Given the description of an element on the screen output the (x, y) to click on. 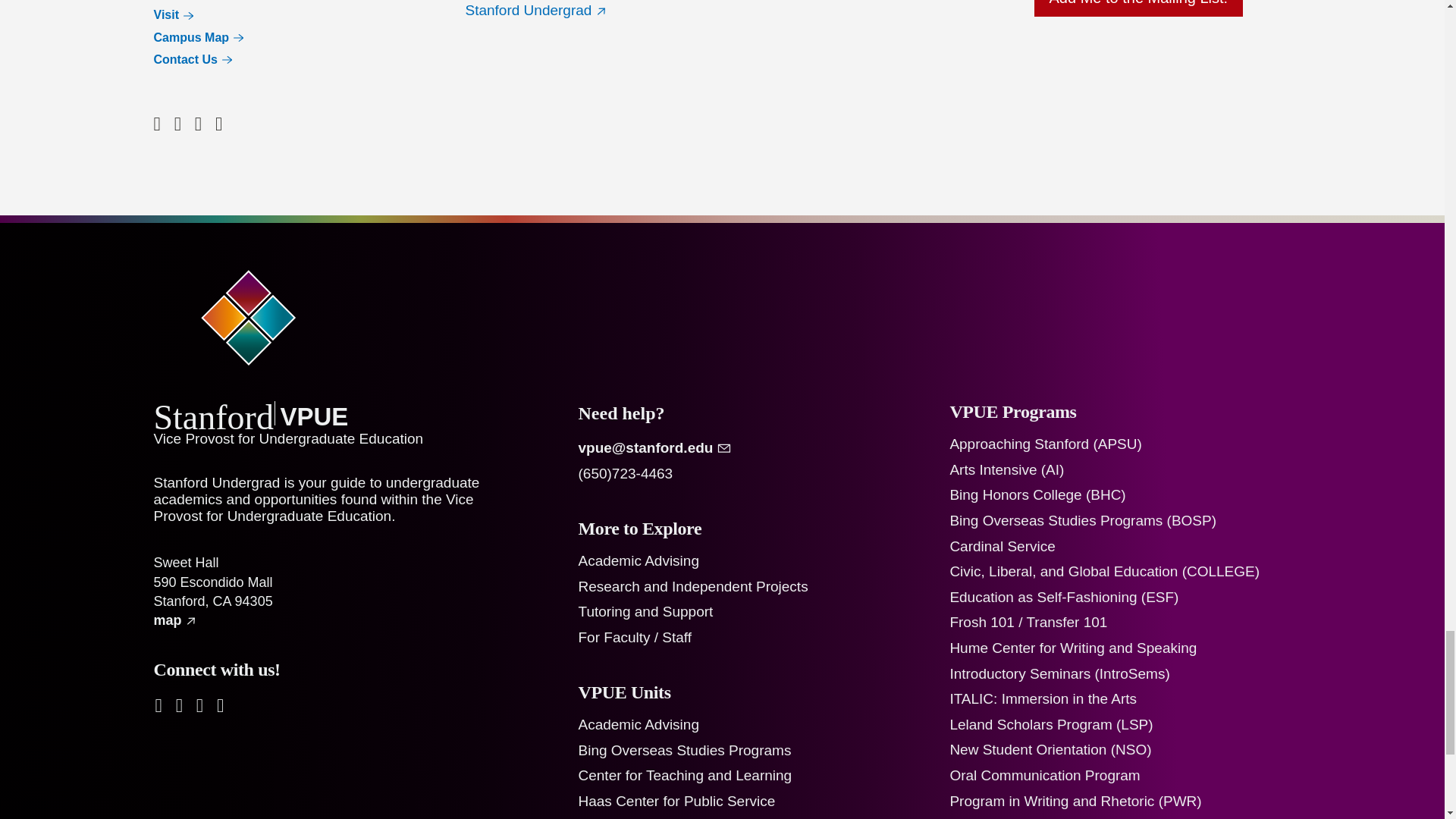
Add Me to the Mailing List! (1138, 8)
